Given the description of an element on the screen output the (x, y) to click on. 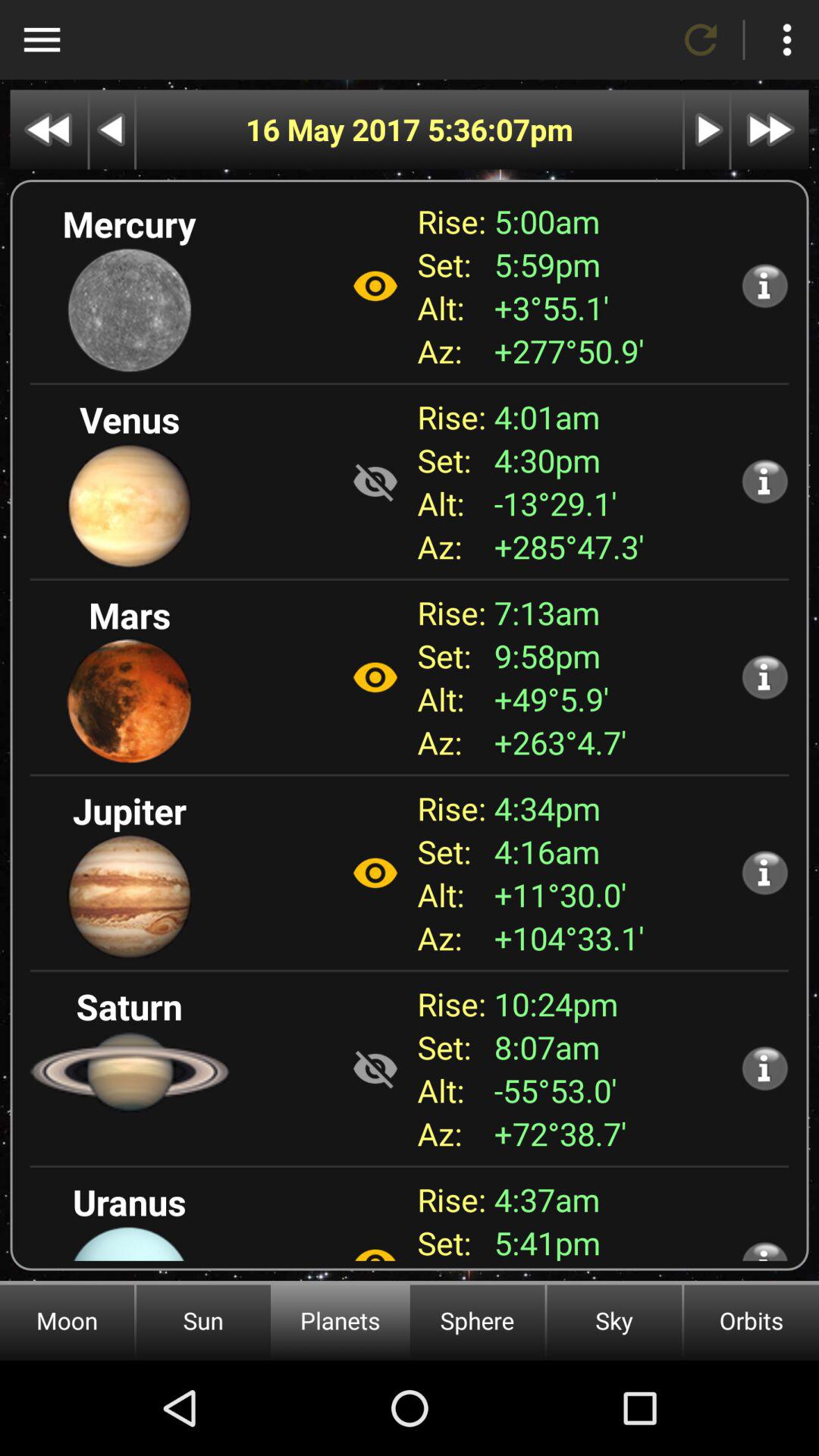
view jupiter (375, 872)
